Given the description of an element on the screen output the (x, y) to click on. 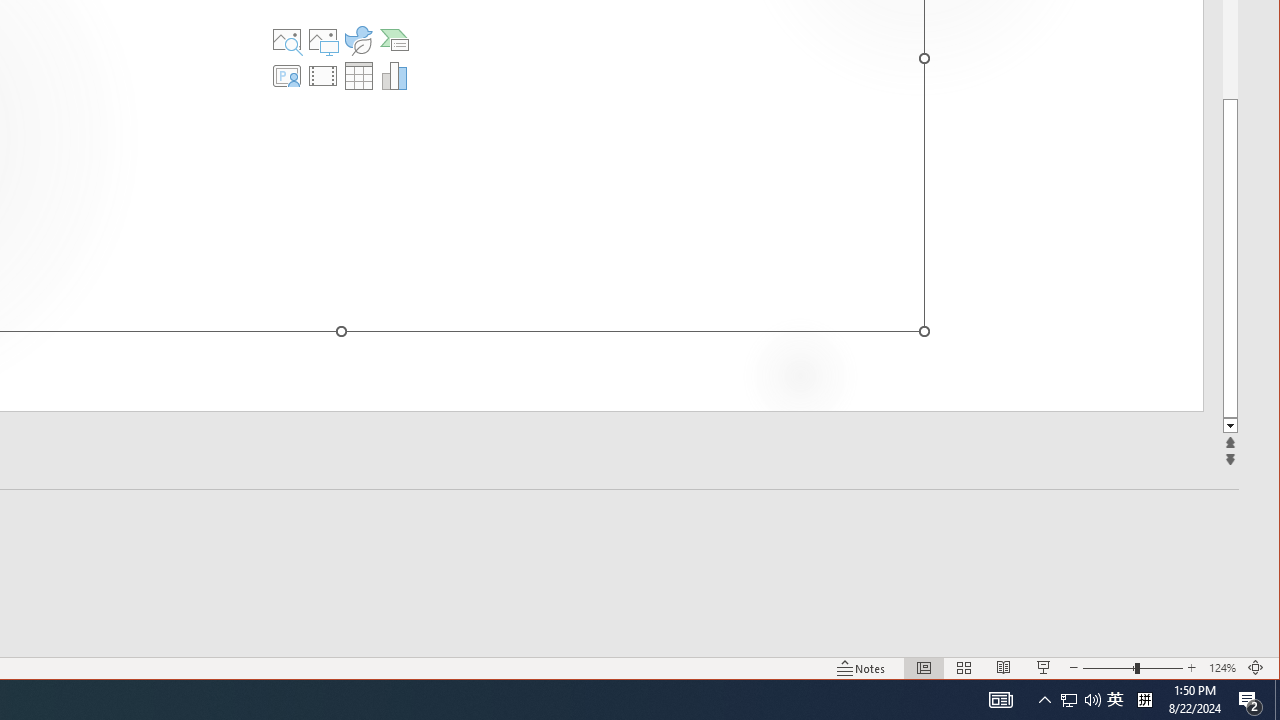
Zoom 124% (1222, 668)
Insert a SmartArt Graphic (394, 39)
Insert an Icon (359, 39)
Insert Table (359, 75)
Insert Chart (394, 75)
